Given the description of an element on the screen output the (x, y) to click on. 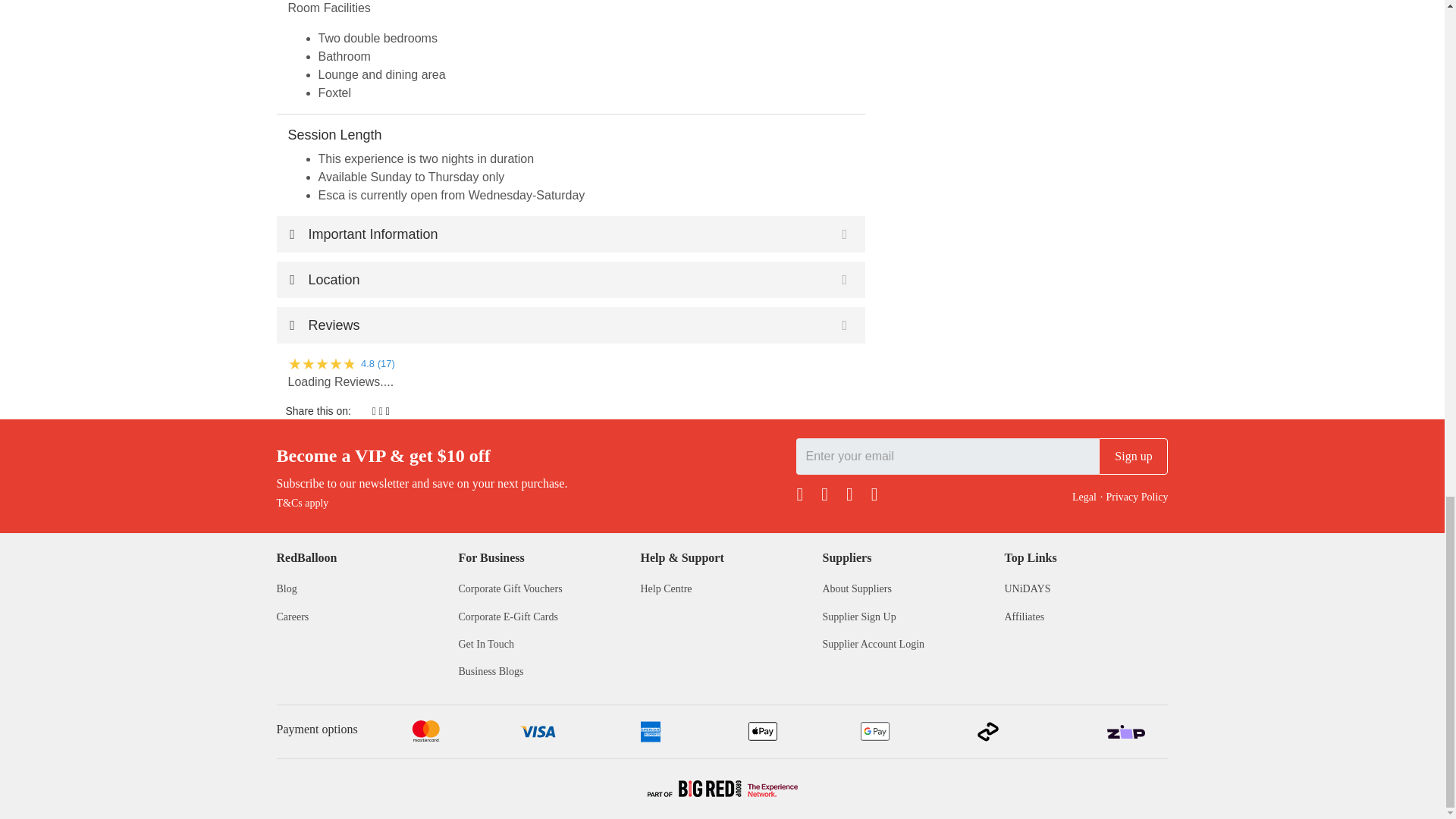
Go to Blog (286, 588)
Careers (292, 616)
